Given the description of an element on the screen output the (x, y) to click on. 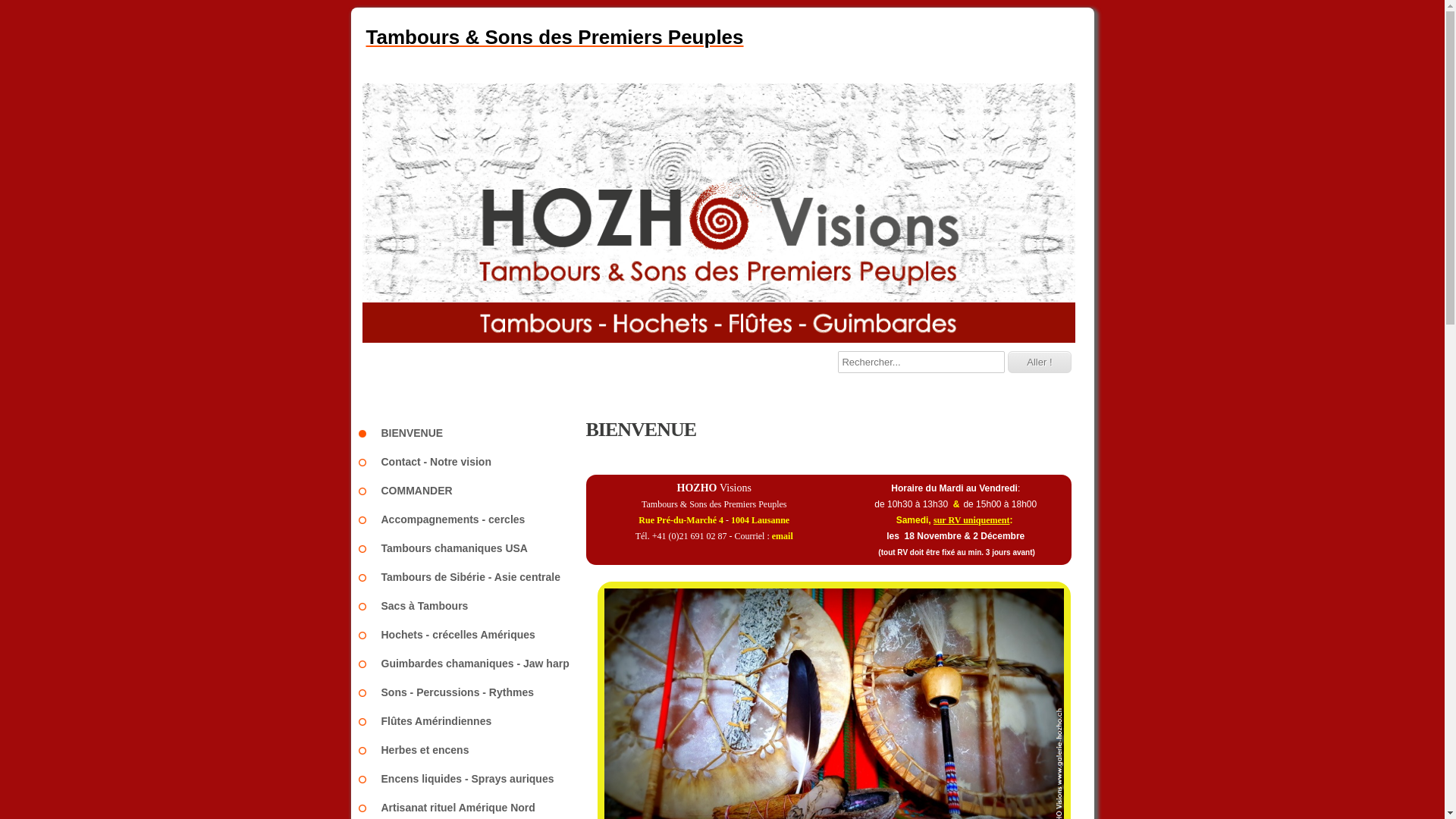
Tambours chamaniques USA Element type: text (471, 548)
COMMANDER Element type: text (471, 490)
Accompagnements - cercles Element type: text (471, 519)
Contact - Notre vision Element type: text (471, 461)
Sons - Percussions - Rythmes Element type: text (471, 692)
Guimbardes chamaniques - Jaw harp Element type: text (471, 663)
sur RV uniquement Element type: text (971, 519)
Encens liquides - Sprays auriques Element type: text (471, 778)
BIENVENUE Element type: text (471, 432)
Herbes et encens Element type: text (471, 749)
Tambours & Sons des Premiers Peuples Element type: text (721, 37)
email Element type: text (782, 535)
